Given the description of an element on the screen output the (x, y) to click on. 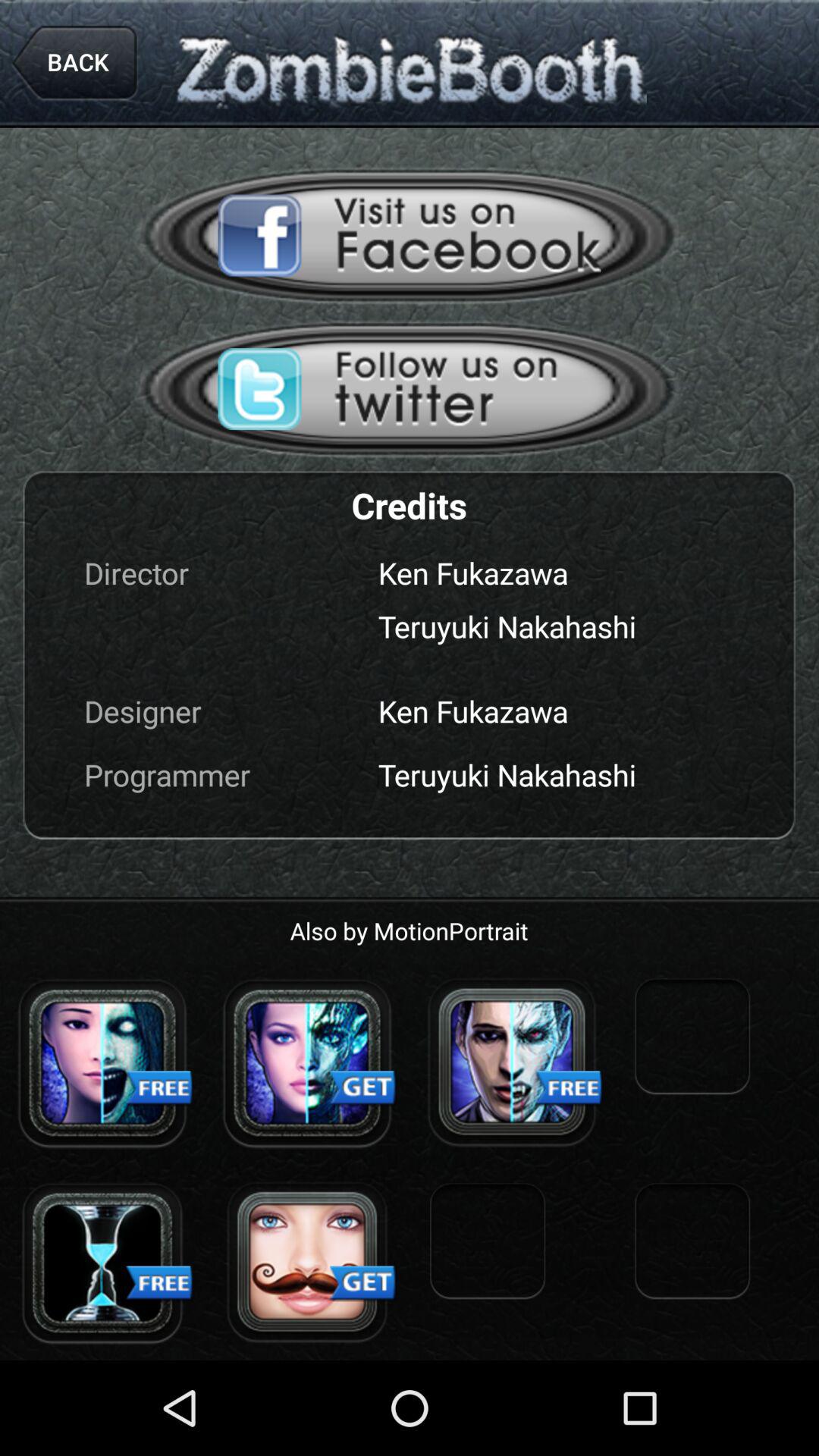
select the empty box which is present after three filled box (692, 1039)
select the second text get which is on the bottom of the page (363, 1283)
click on the second picture under the text also motiom portrait (306, 1063)
